Given the description of an element on the screen output the (x, y) to click on. 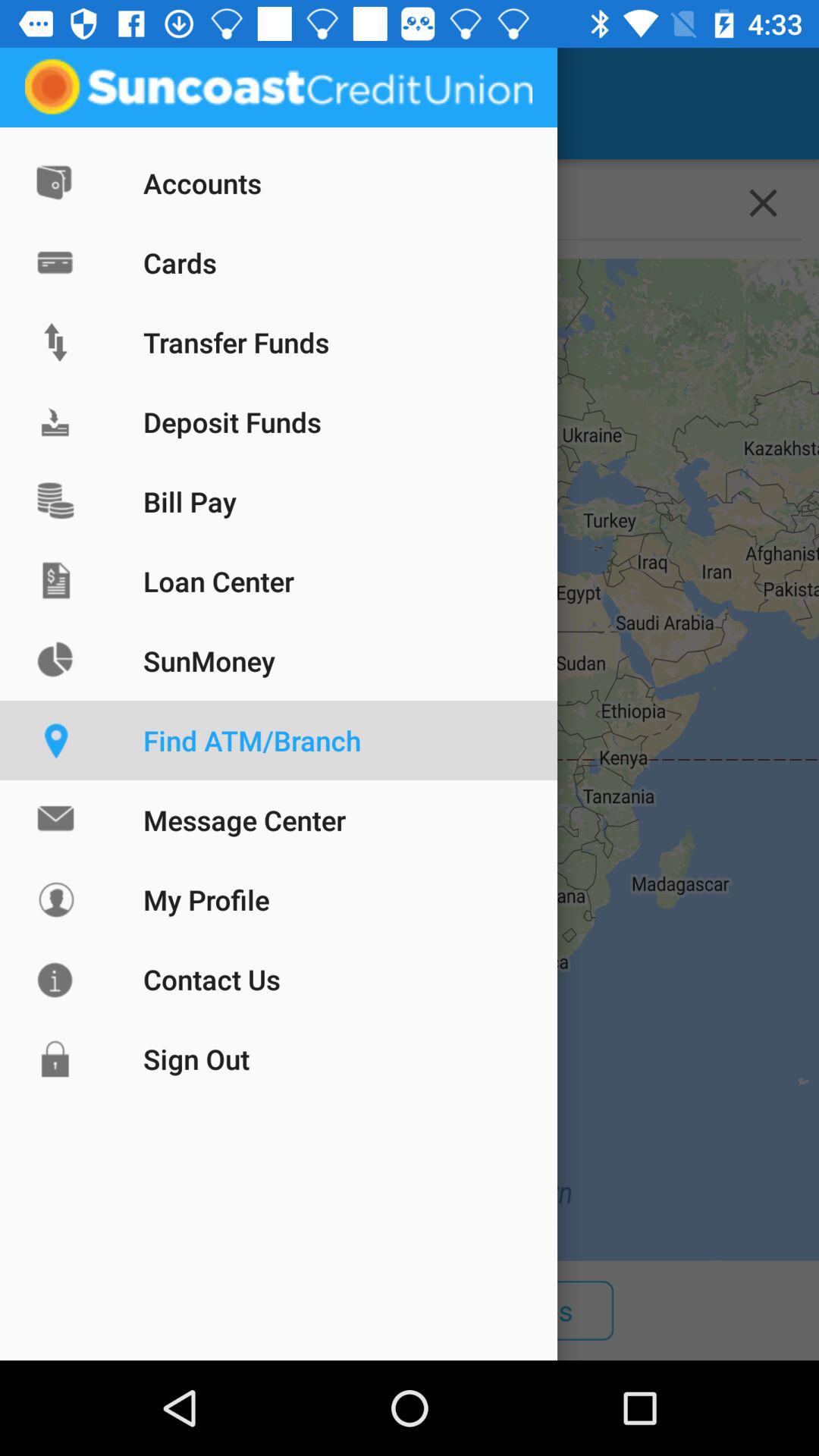
launch the app next to locations item (55, 103)
